Given the description of an element on the screen output the (x, y) to click on. 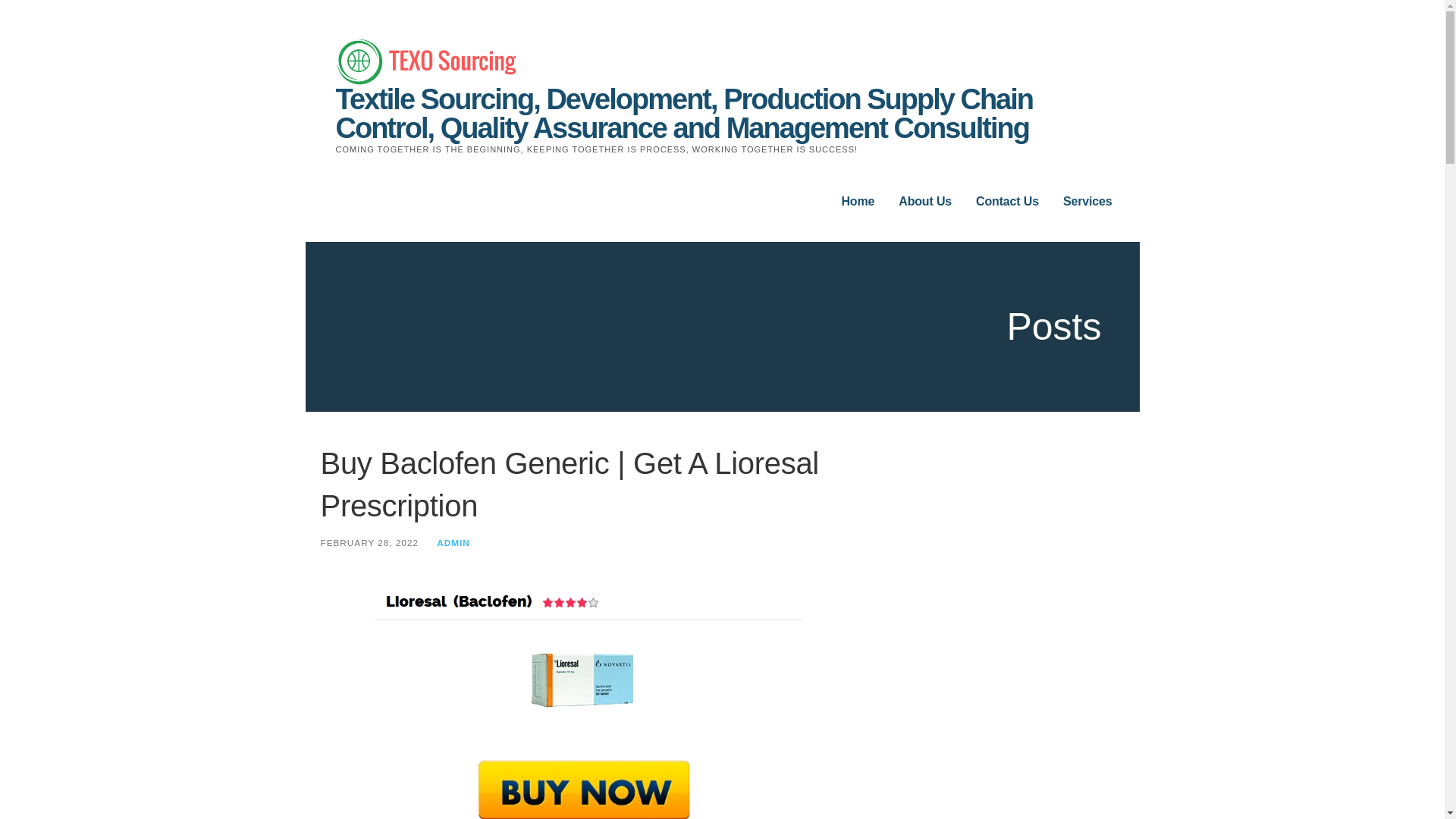
Home (858, 202)
Posts by admin (453, 542)
ADMIN (453, 542)
Services (1087, 202)
About Us (925, 202)
Contact Us (1007, 202)
